Given the description of an element on the screen output the (x, y) to click on. 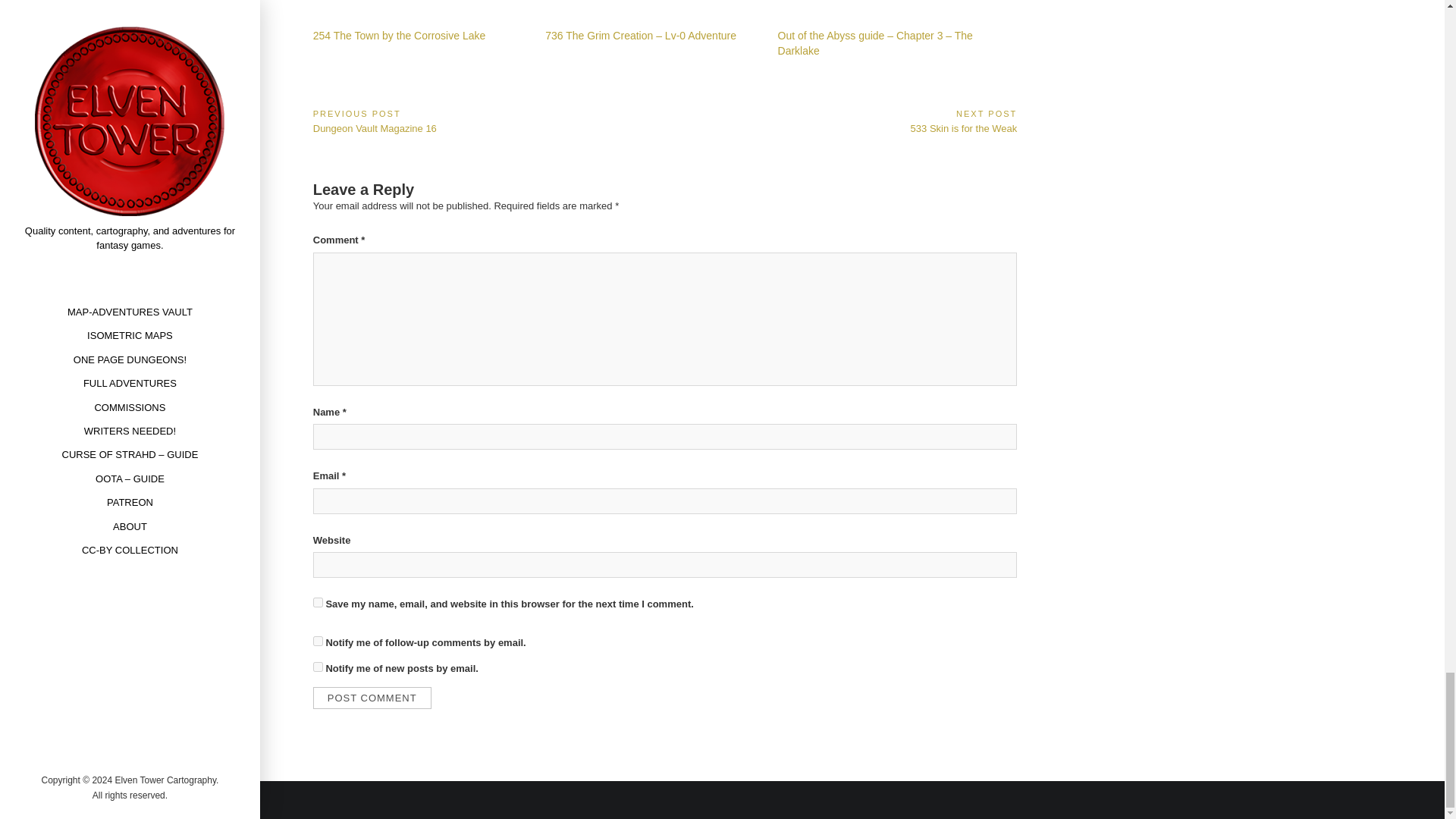
subscribe (318, 666)
254 The Town by the Corrosive Lake (399, 35)
yes (318, 602)
subscribe (318, 641)
Post Comment (371, 698)
Post Comment (489, 120)
254 The Town by the Corrosive Lake (840, 120)
